Given the description of an element on the screen output the (x, y) to click on. 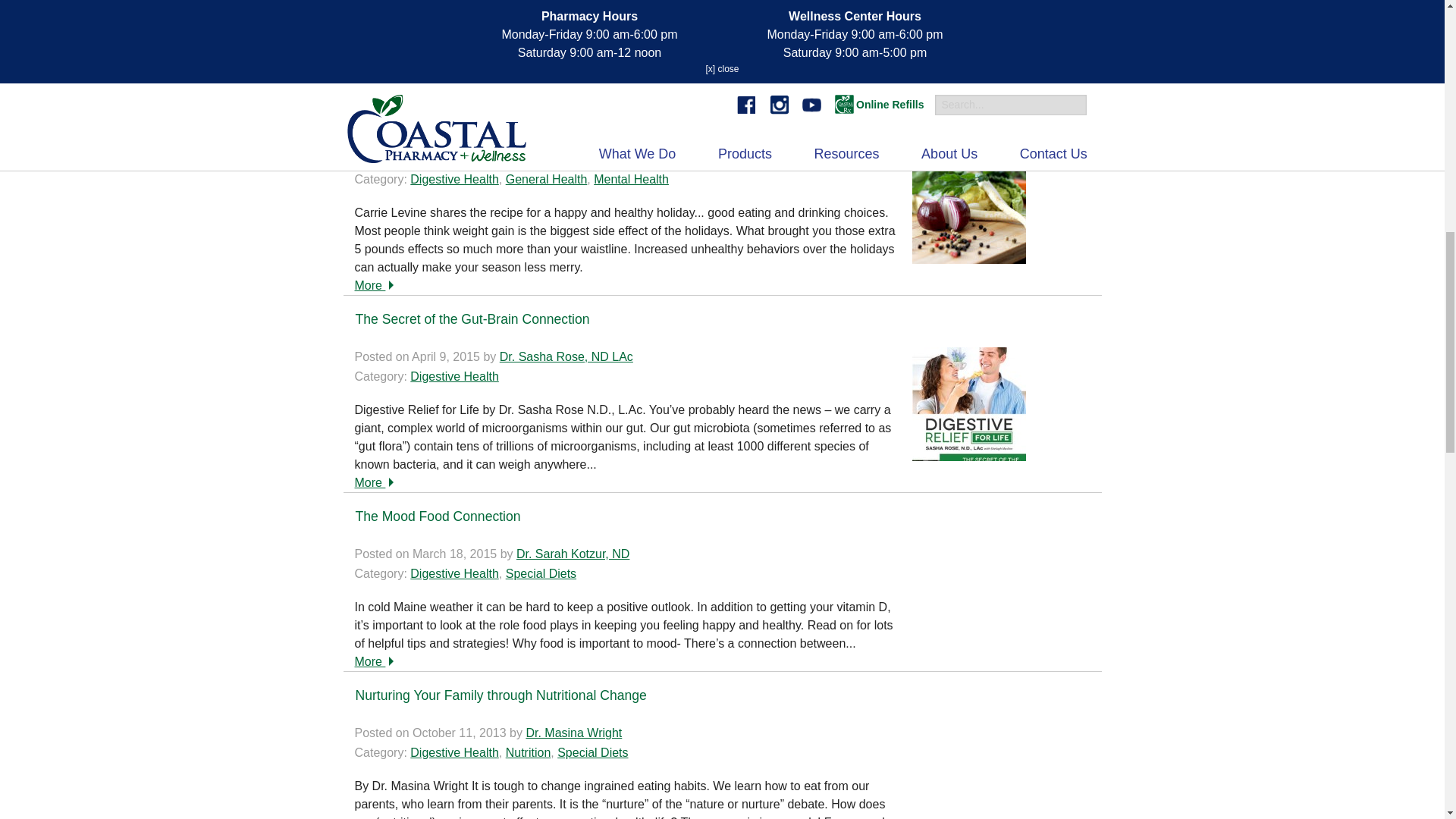
Posts by Dr. Sasha Rose, ND LAc (566, 356)
Posts by Dr. Sarah Kotzur, ND (572, 553)
Posts by Dr. Masina Wright (573, 732)
Posts by Carrie Levine, MSN, CNM (608, 159)
